Given the description of an element on the screen output the (x, y) to click on. 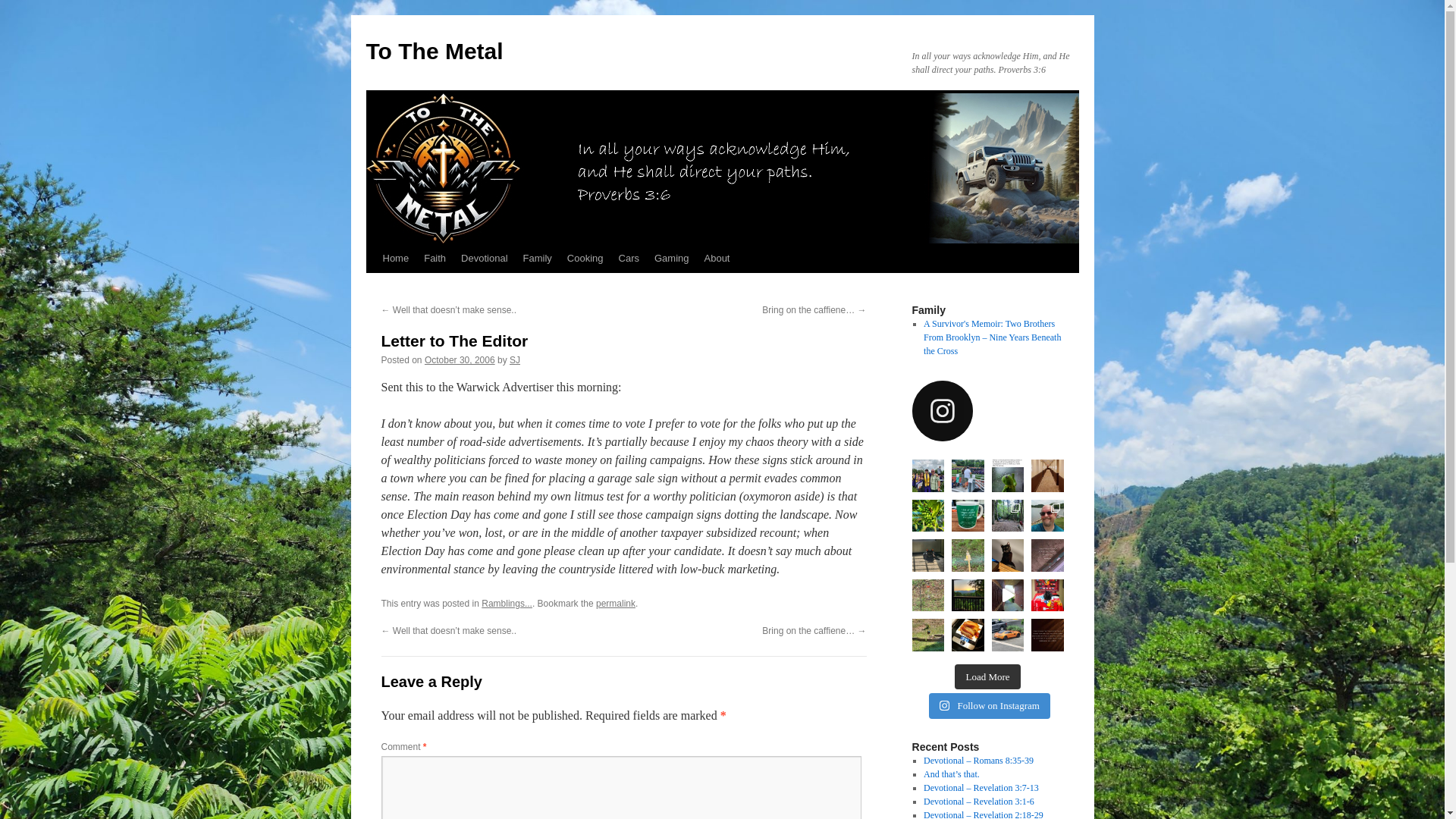
Cooking (585, 258)
permalink (614, 603)
Faith (434, 258)
Family (537, 258)
Cars (628, 258)
SJ (514, 359)
Home (395, 258)
Permalink to Letter to The Editor (614, 603)
Gaming (671, 258)
About (715, 258)
